Given the description of an element on the screen output the (x, y) to click on. 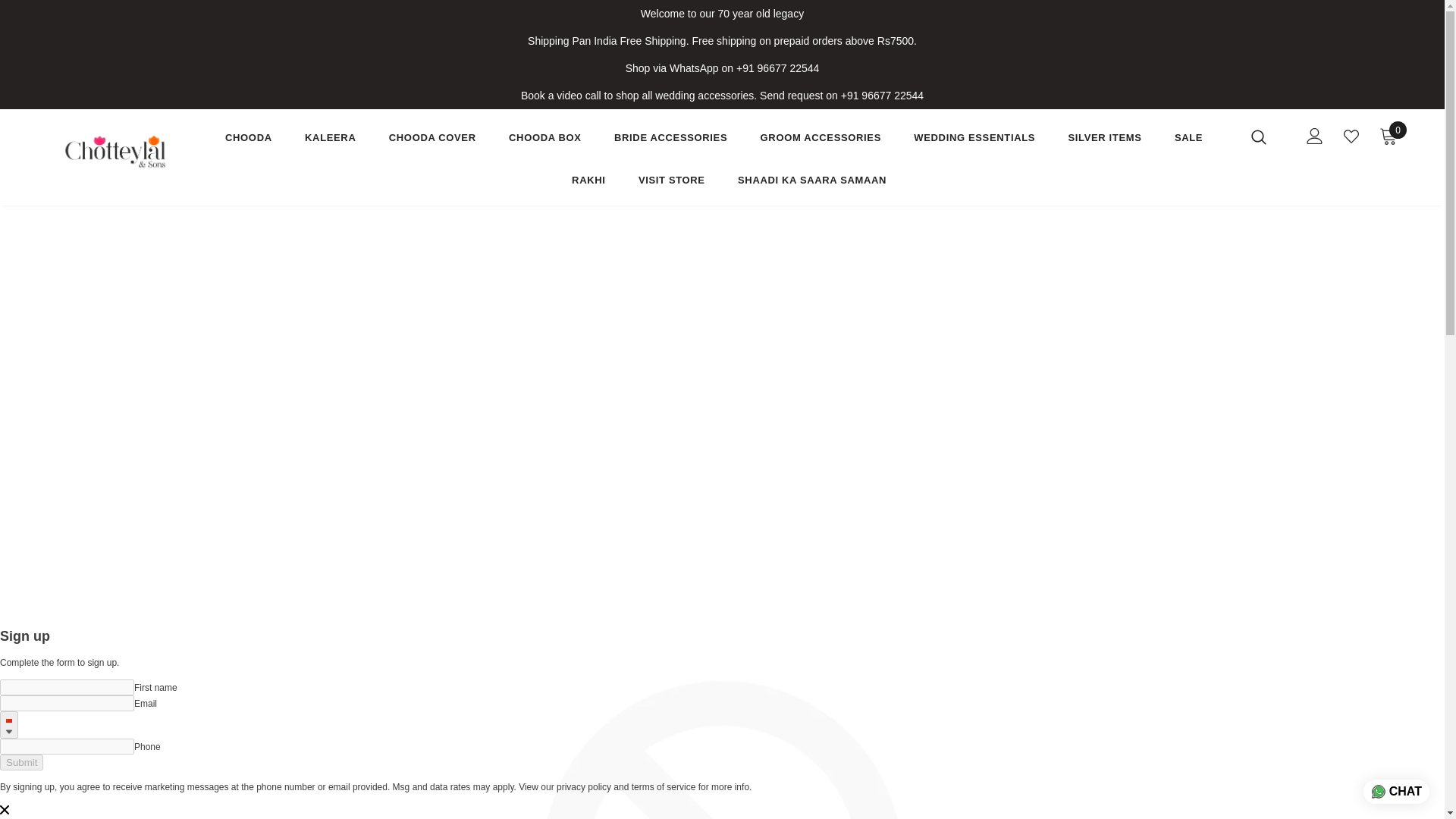
Cart Icon (1387, 135)
WEDDING ESSENTIALS (974, 140)
Logo (114, 150)
Search Icon (1267, 136)
KALEERA (329, 140)
CHOODA BOX (544, 140)
SHAADI KA SAARA SAMAAN (812, 183)
BRIDE ACCESSORIES (670, 140)
CHOODA COVER (432, 140)
0 (1387, 135)
SILVER ITEMS (1104, 140)
CHOODA (248, 140)
My Wish Lists (1350, 136)
VISIT STORE (671, 183)
GROOM ACCESSORIES (820, 140)
